Given the description of an element on the screen output the (x, y) to click on. 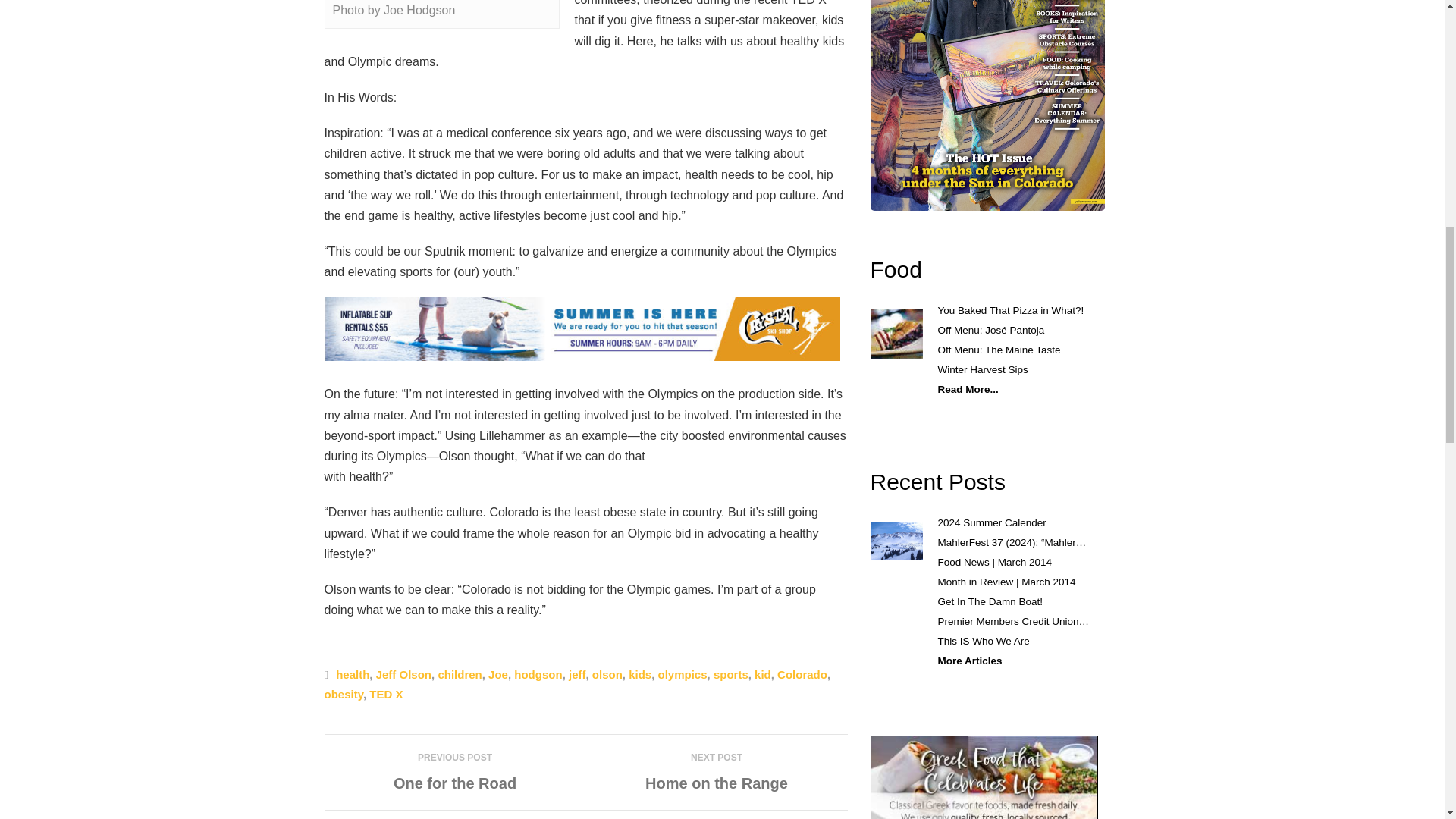
Off Menu: The Maine Taste (998, 349)
Fabulous food and great atmosphere. (896, 333)
Fabulous food and great atmosphere. (895, 269)
You Baked That Pizza in What?! (1010, 310)
May 2024 (987, 105)
